Given the description of an element on the screen output the (x, y) to click on. 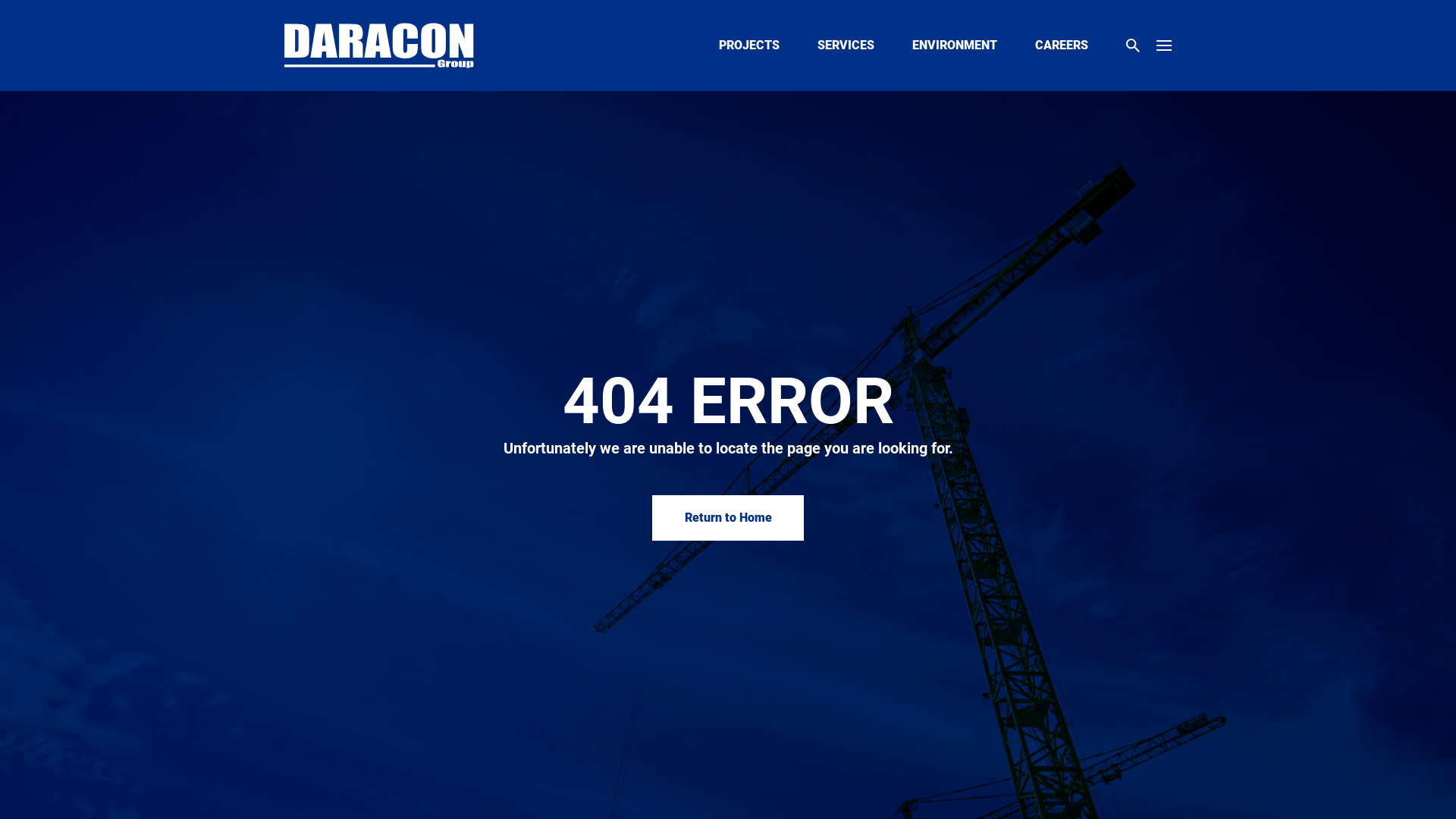
CAREERS Element type: text (1061, 44)
PROJECTS Element type: text (748, 44)
ENVIRONMENT Element type: text (954, 44)
SERVICES Element type: text (845, 44)
Return to Home Element type: text (727, 517)
